Given the description of an element on the screen output the (x, y) to click on. 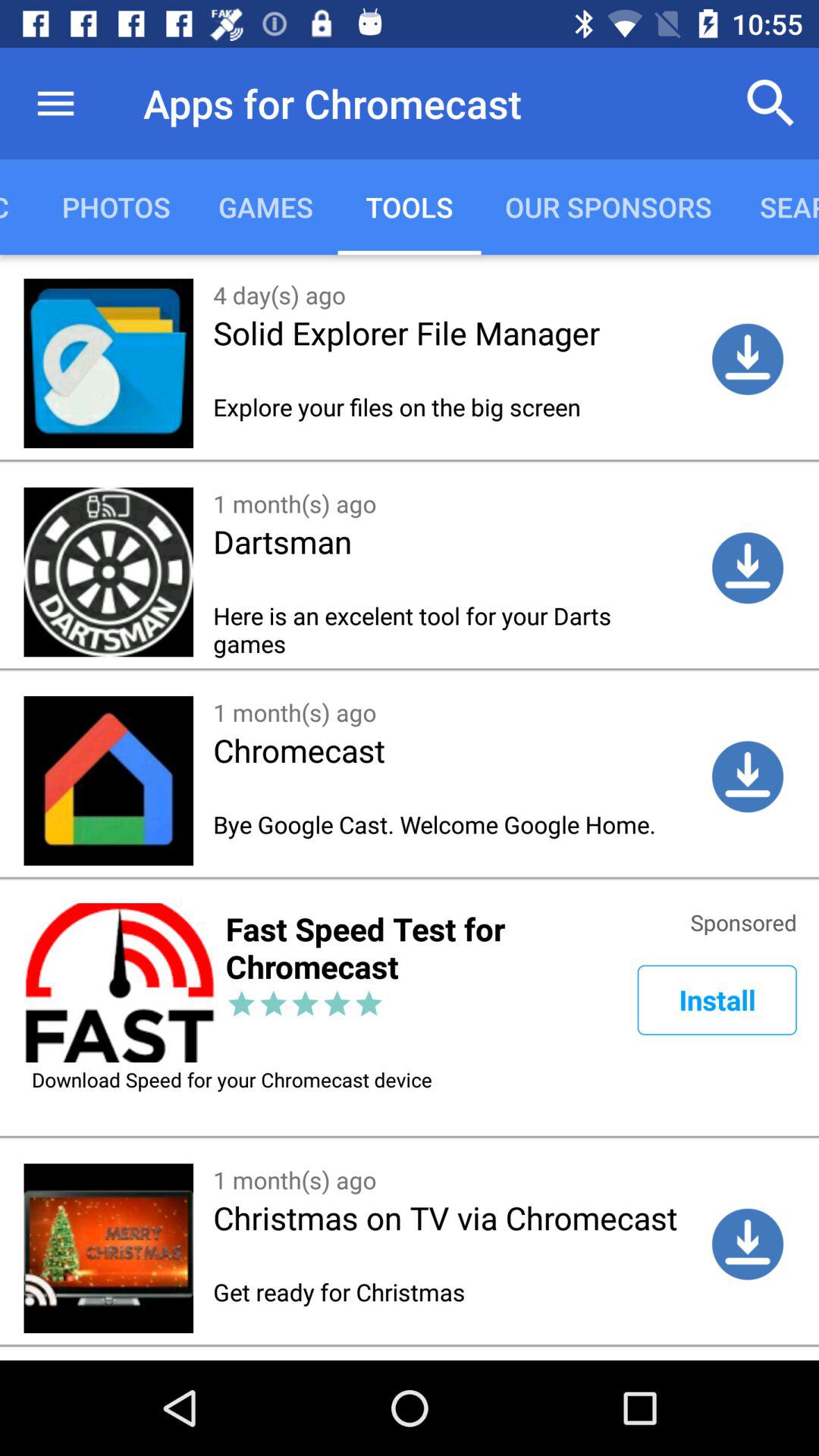
flip until the install (716, 1000)
